Given the description of an element on the screen output the (x, y) to click on. 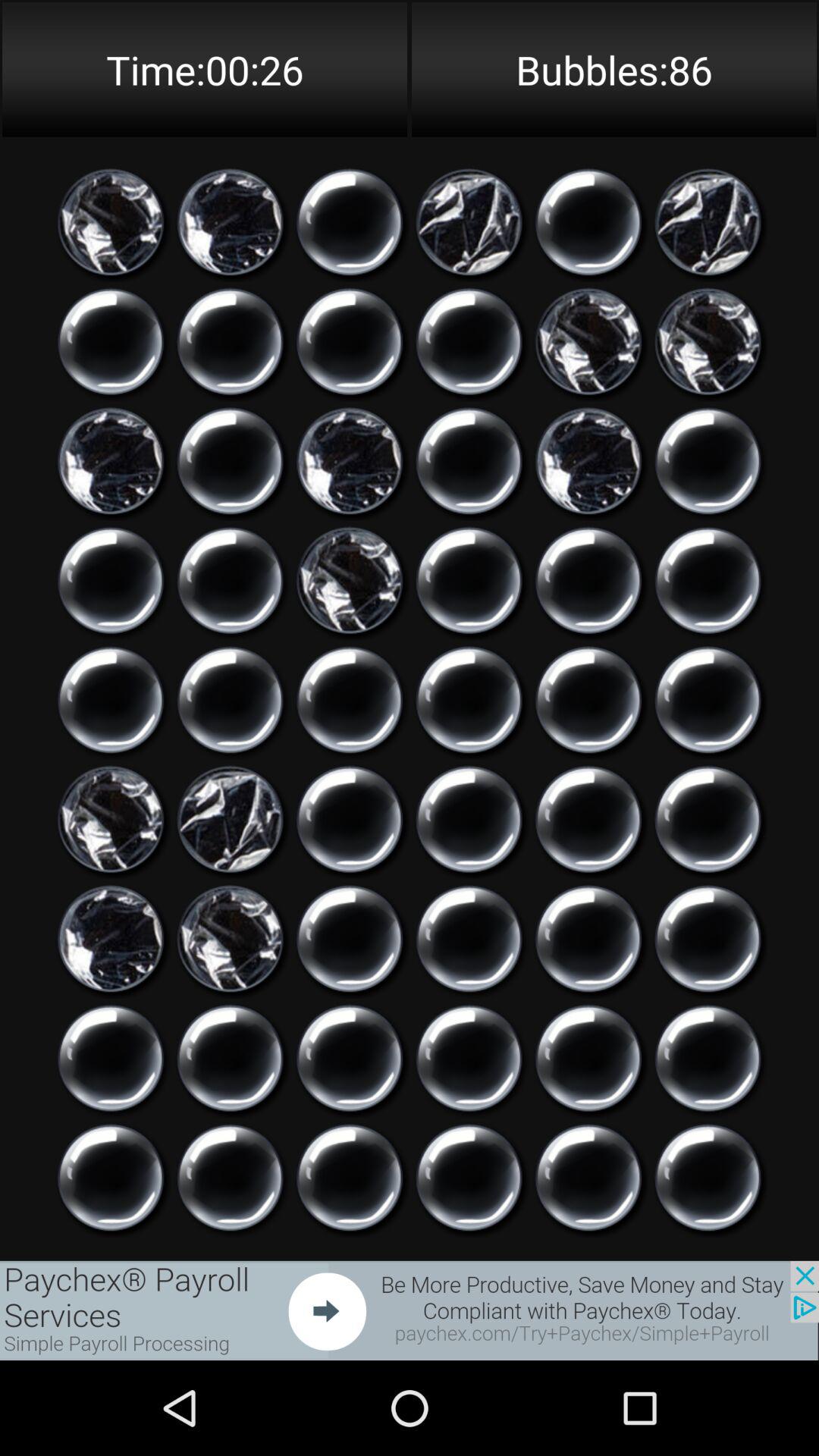
pop bubble (110, 699)
